Given the description of an element on the screen output the (x, y) to click on. 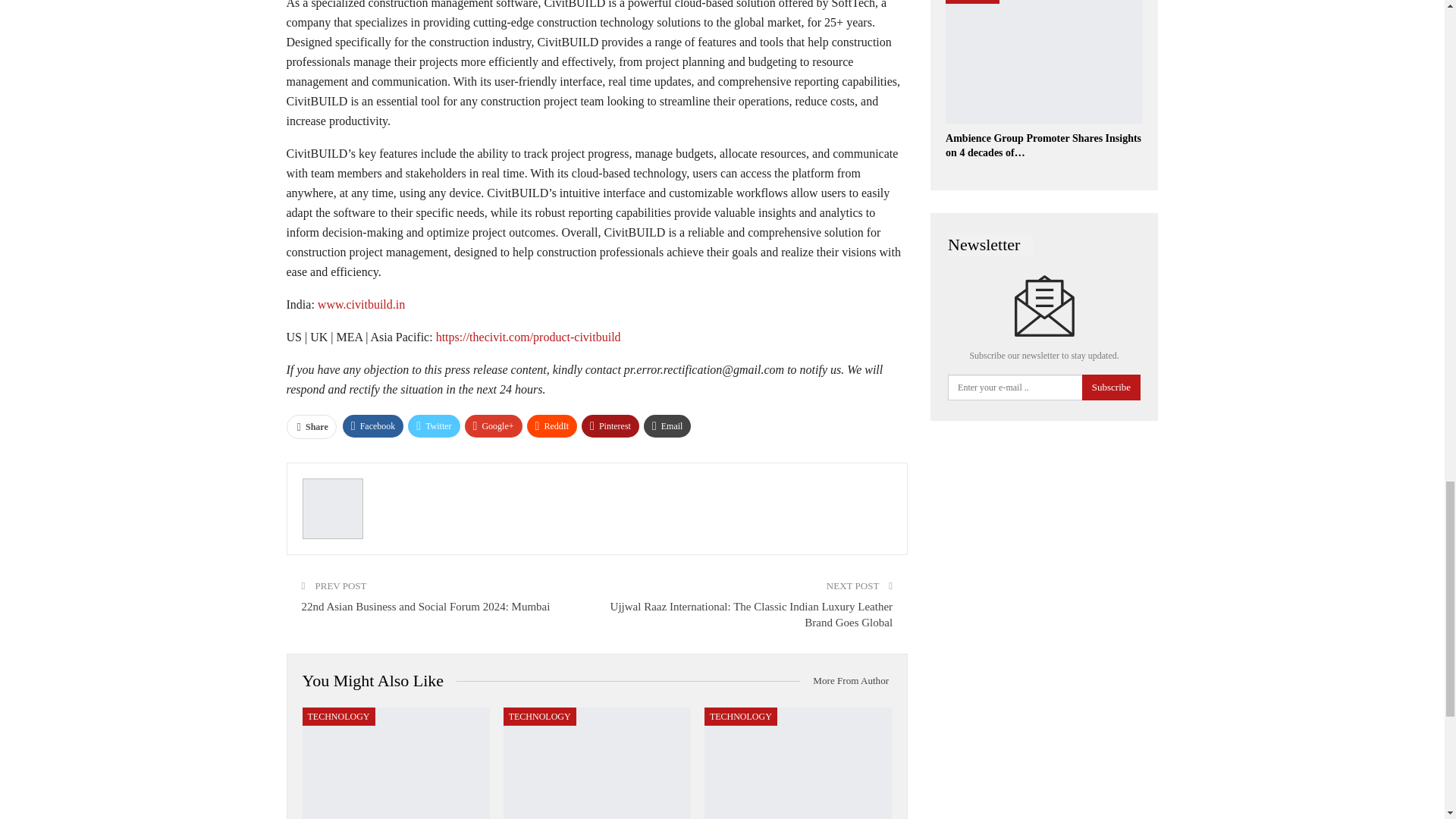
Facebook (373, 425)
www.civitbuild.in (360, 304)
ReddIt (552, 425)
Twitter (433, 425)
